Given the description of an element on the screen output the (x, y) to click on. 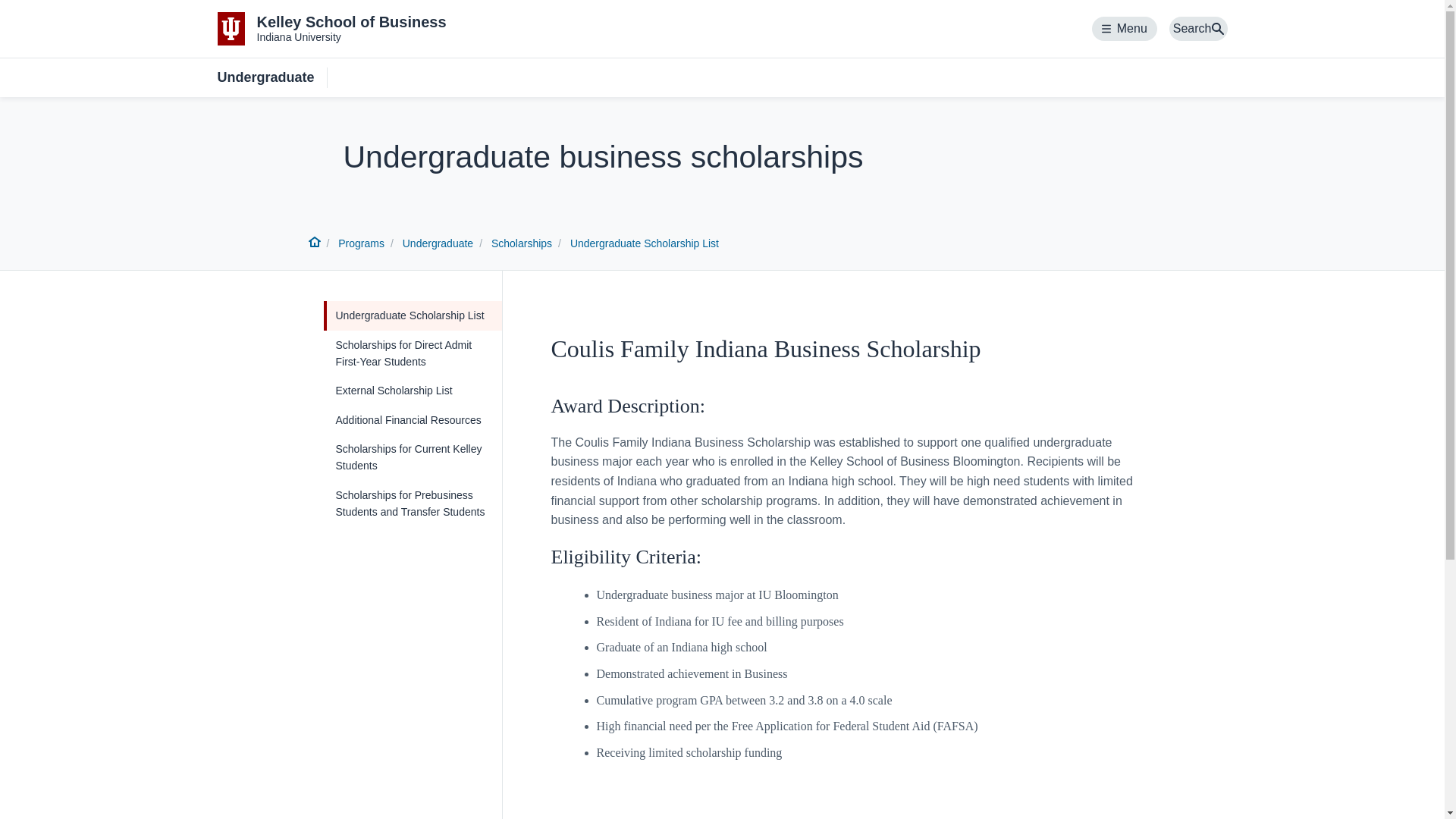
Undergraduate Scholarship List (411, 315)
Undergraduate Scholarship List (644, 243)
Home (313, 244)
Scholarships for Direct Admit First-Year Students (330, 28)
Undergraduate (411, 353)
Additional Financial Resources (1124, 28)
Search (271, 77)
External Scholarship List (411, 419)
